Given the description of an element on the screen output the (x, y) to click on. 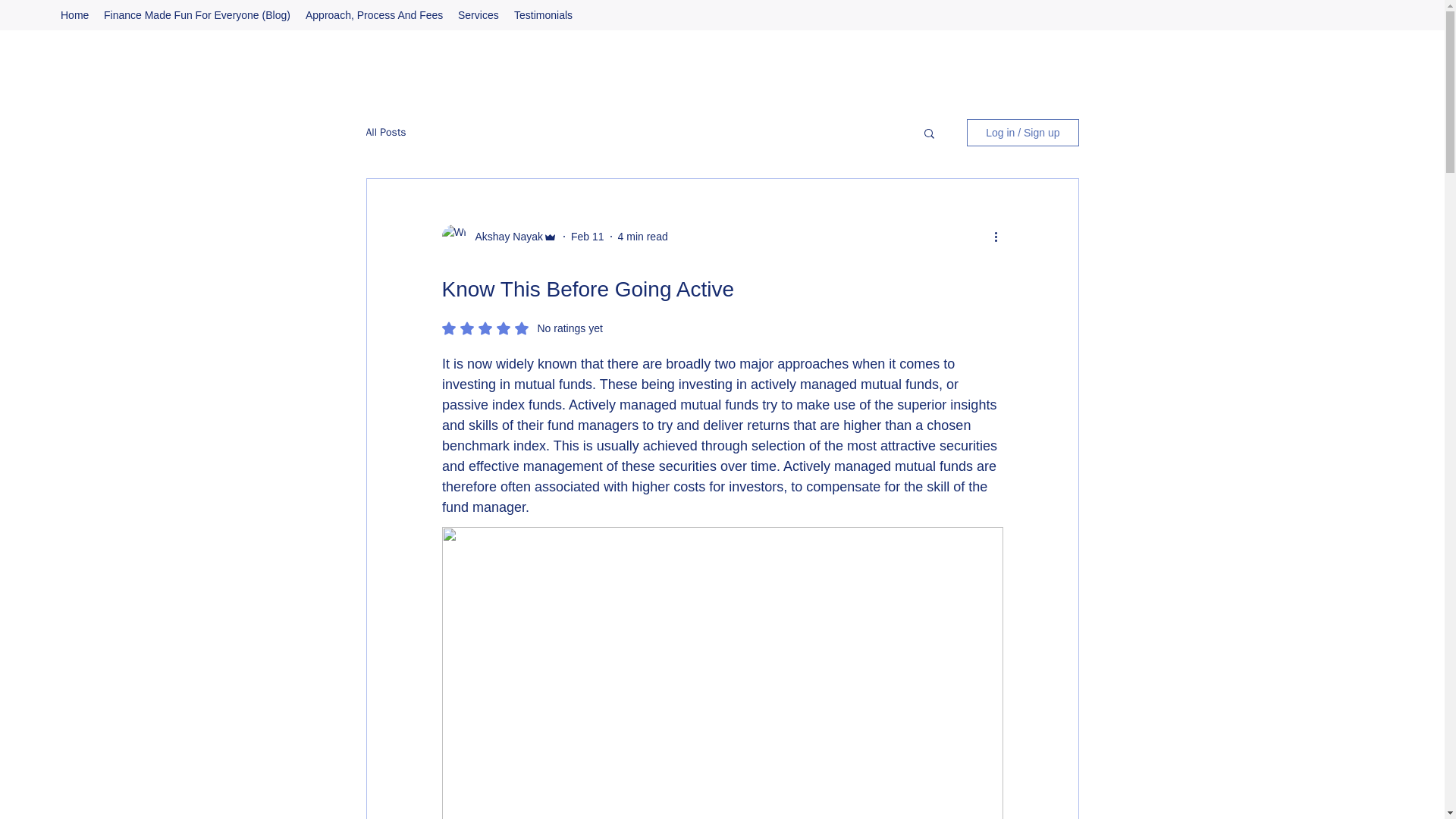
Akshay Nayak (503, 236)
All Posts (385, 132)
Approach, Process And Fees (373, 15)
4 min read (642, 236)
Home (74, 15)
Testimonials (542, 15)
Services (477, 15)
Feb 11 (587, 236)
